Given the description of an element on the screen output the (x, y) to click on. 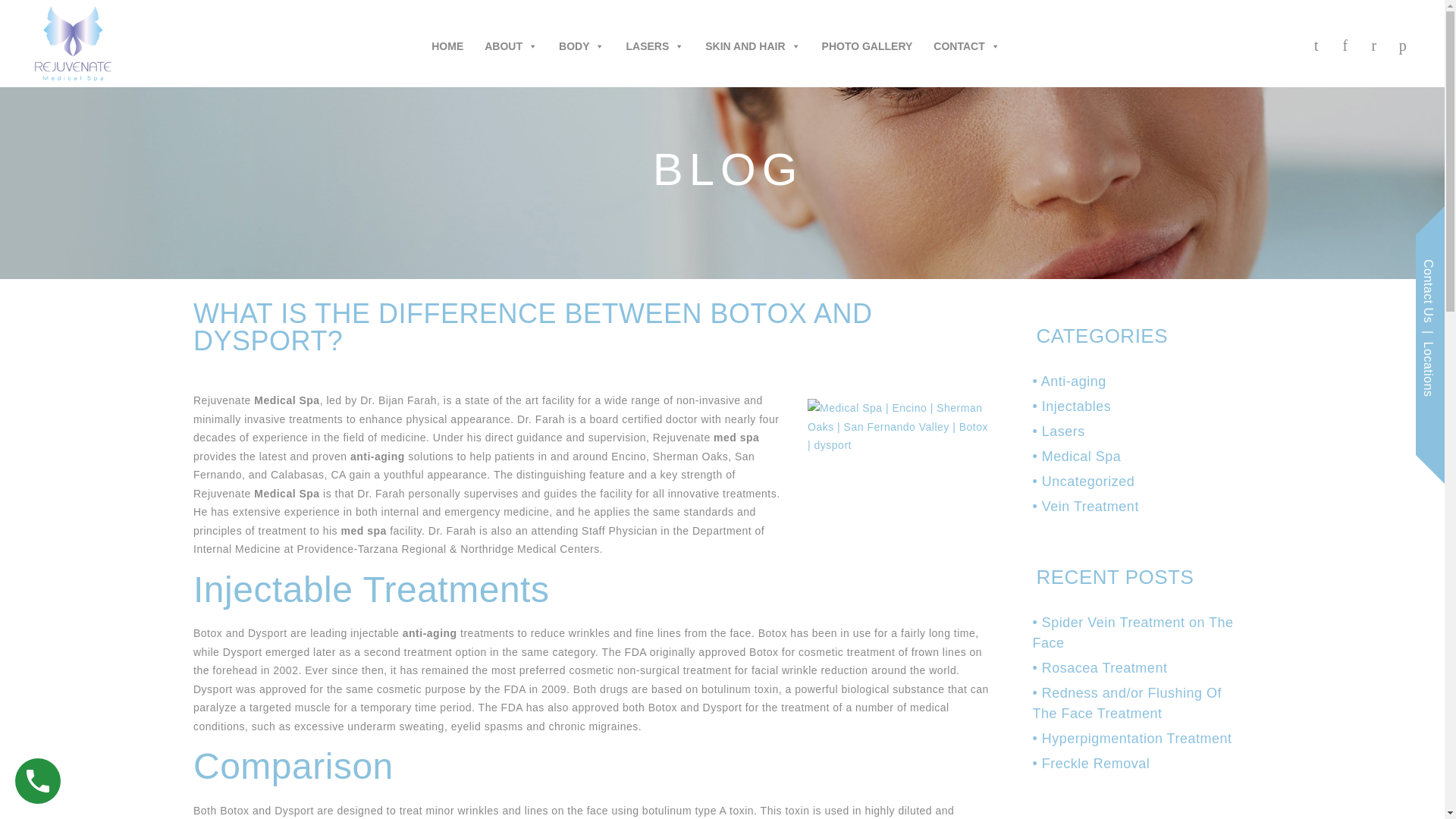
SKIN AND HAIR (751, 40)
HOME (446, 40)
LASERS (655, 40)
BODY (581, 40)
ABOUT (510, 40)
